Given the description of an element on the screen output the (x, y) to click on. 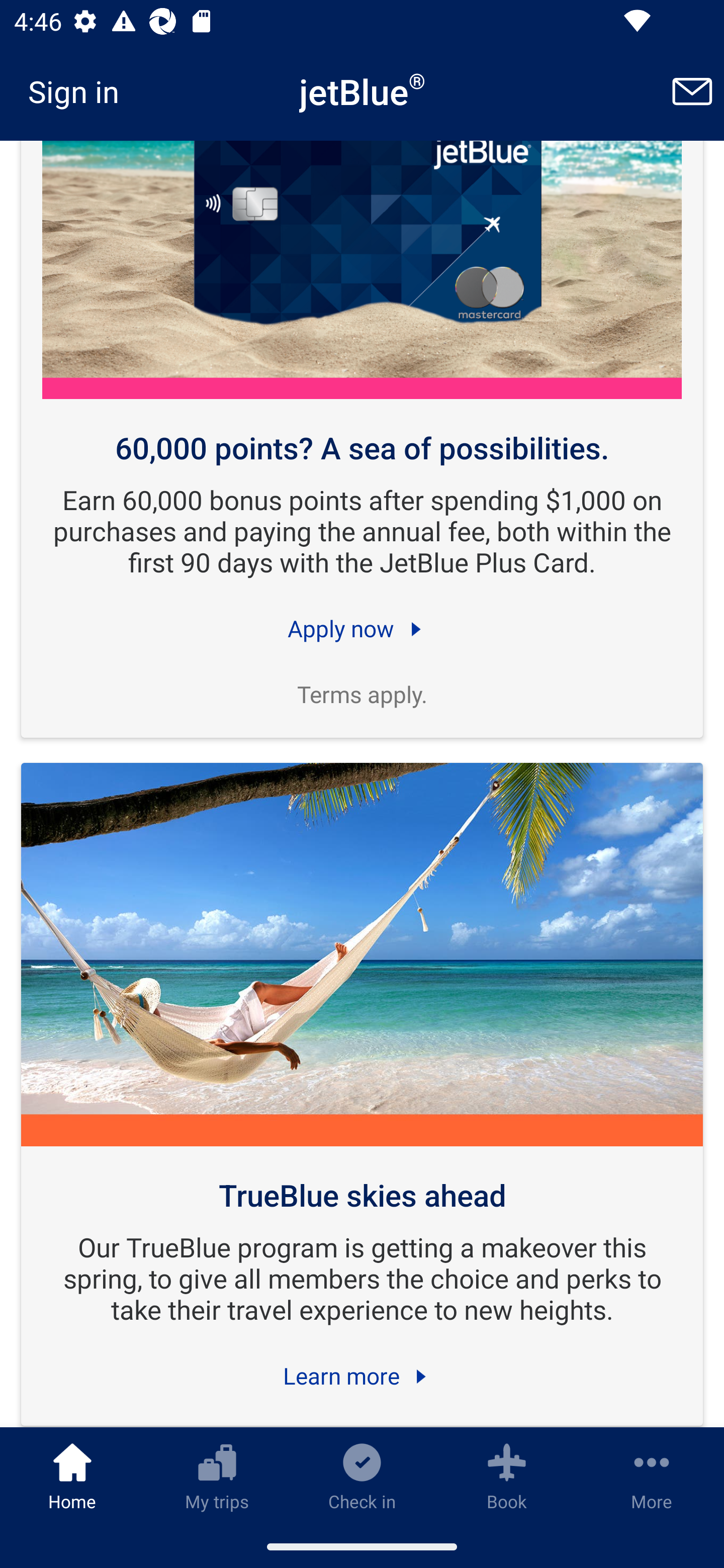
Sign in (80, 91)
Apply now (361, 629)
Learn more (361, 1375)
My trips (216, 1475)
Check in (361, 1475)
Book (506, 1475)
More (651, 1475)
